Given the description of an element on the screen output the (x, y) to click on. 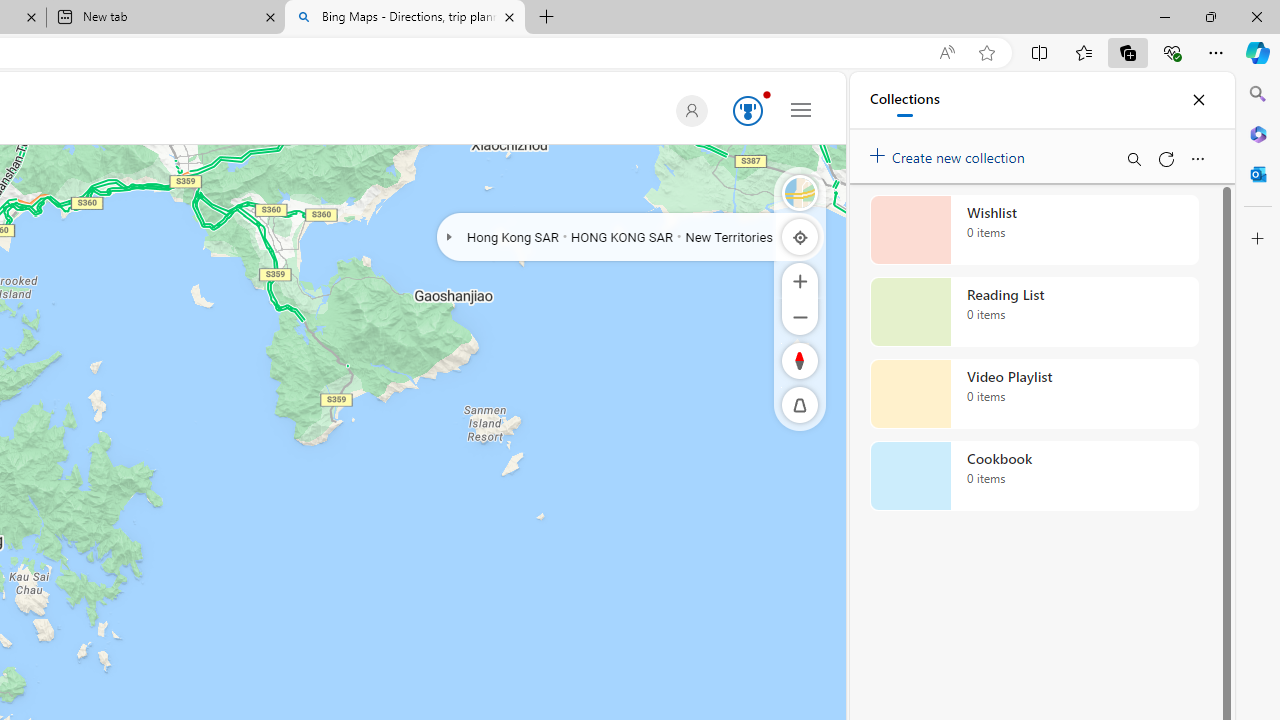
Animation (766, 94)
Settings and quick links (801, 109)
Cookbook collection, 0 items (1034, 475)
Default Profile Picture (691, 110)
Video Playlist collection, 0 items (1034, 394)
AutomationID: serp_medal_svg (748, 110)
Select Style (799, 192)
